Given the description of an element on the screen output the (x, y) to click on. 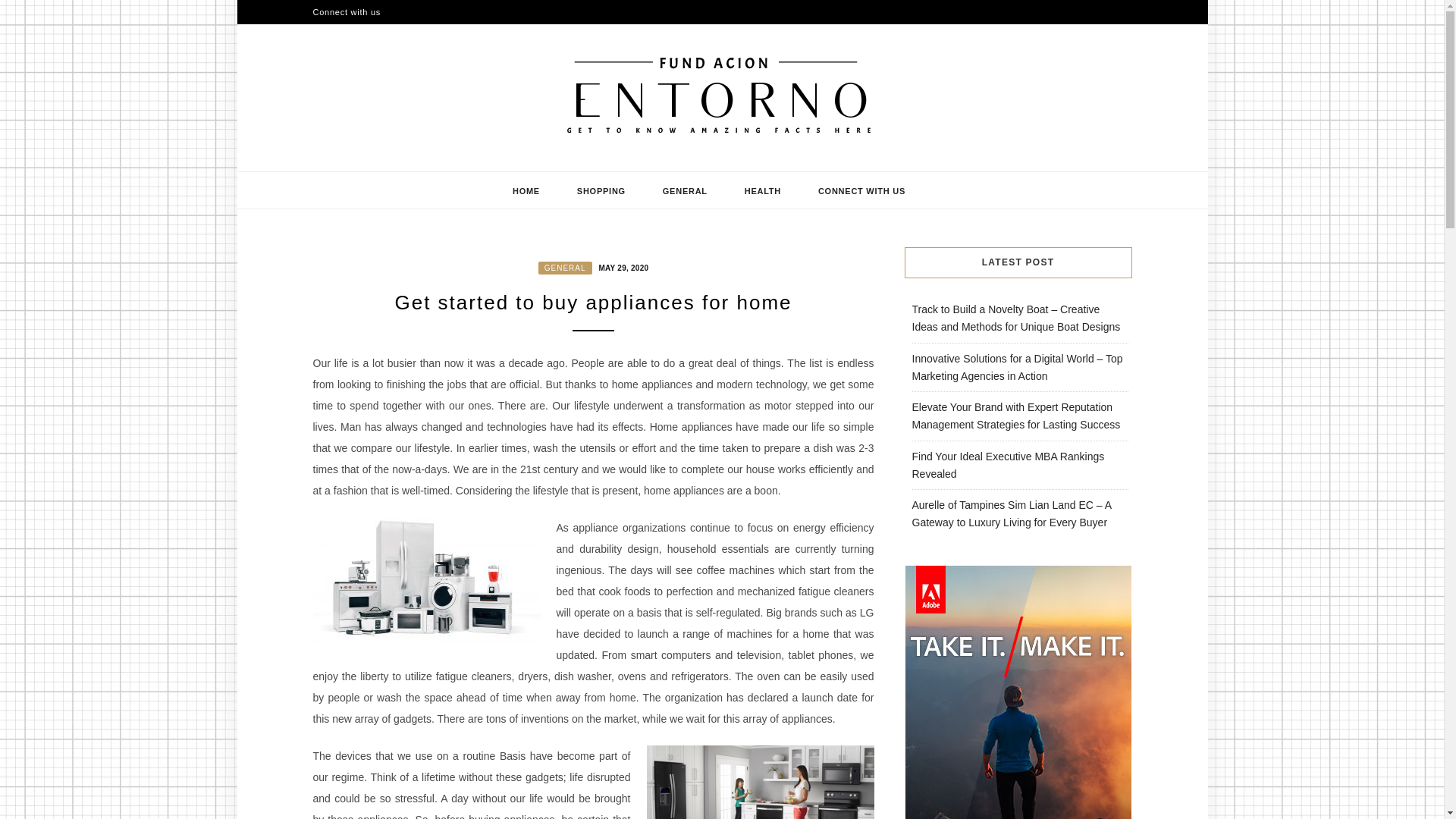
CONNECT WITH US (860, 190)
SHOPPING (600, 190)
MAY 29, 2020 (620, 266)
Find Your Ideal Executive MBA Rankings Revealed (1007, 464)
GENERAL (685, 190)
FUND ACION ENTORNO (497, 164)
Connect with us (346, 12)
HOME (525, 190)
HEALTH (762, 190)
GENERAL (565, 267)
